Given the description of an element on the screen output the (x, y) to click on. 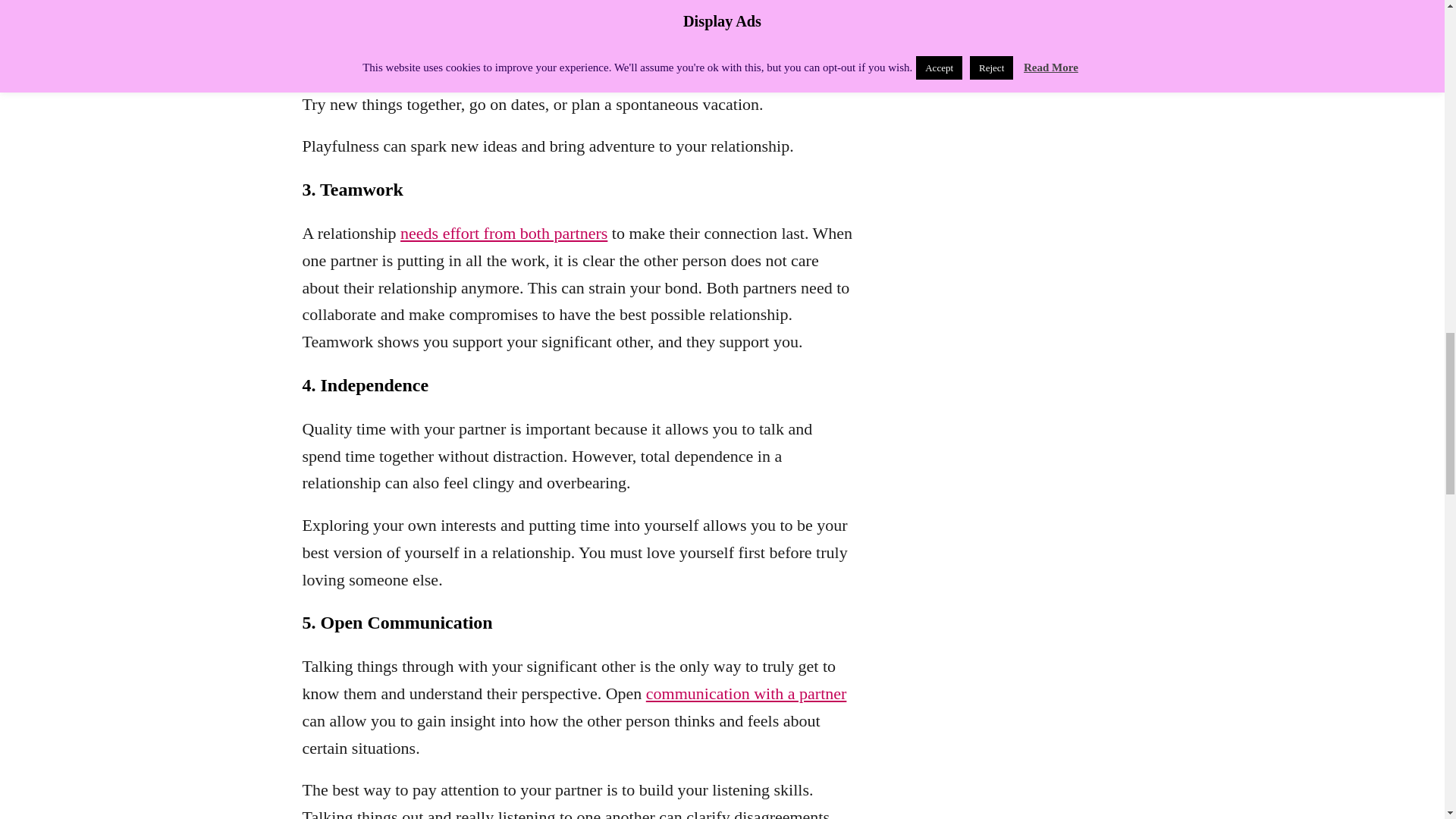
needs effort from both partners (503, 232)
communication with a partner (746, 692)
